Given the description of an element on the screen output the (x, y) to click on. 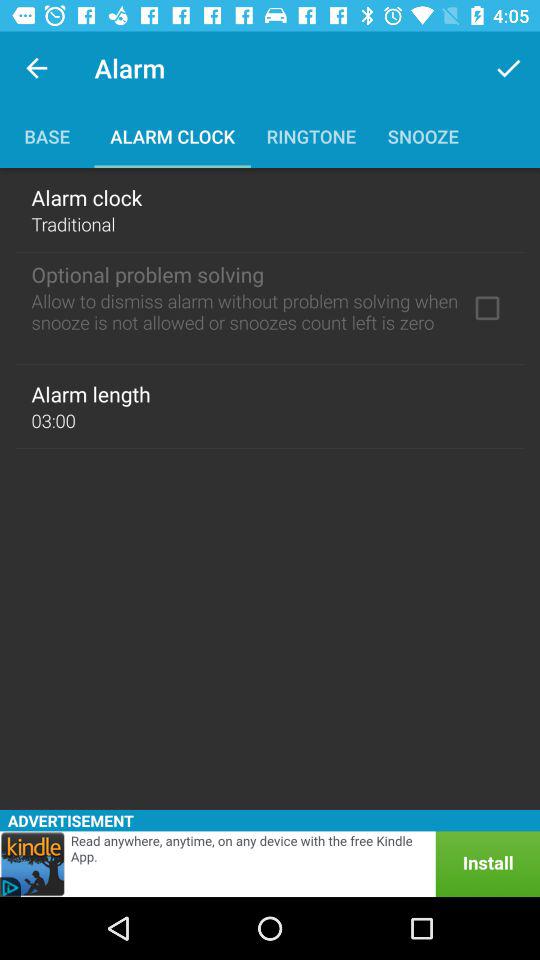
choose the item next to the optional problem solving icon (487, 308)
